Given the description of an element on the screen output the (x, y) to click on. 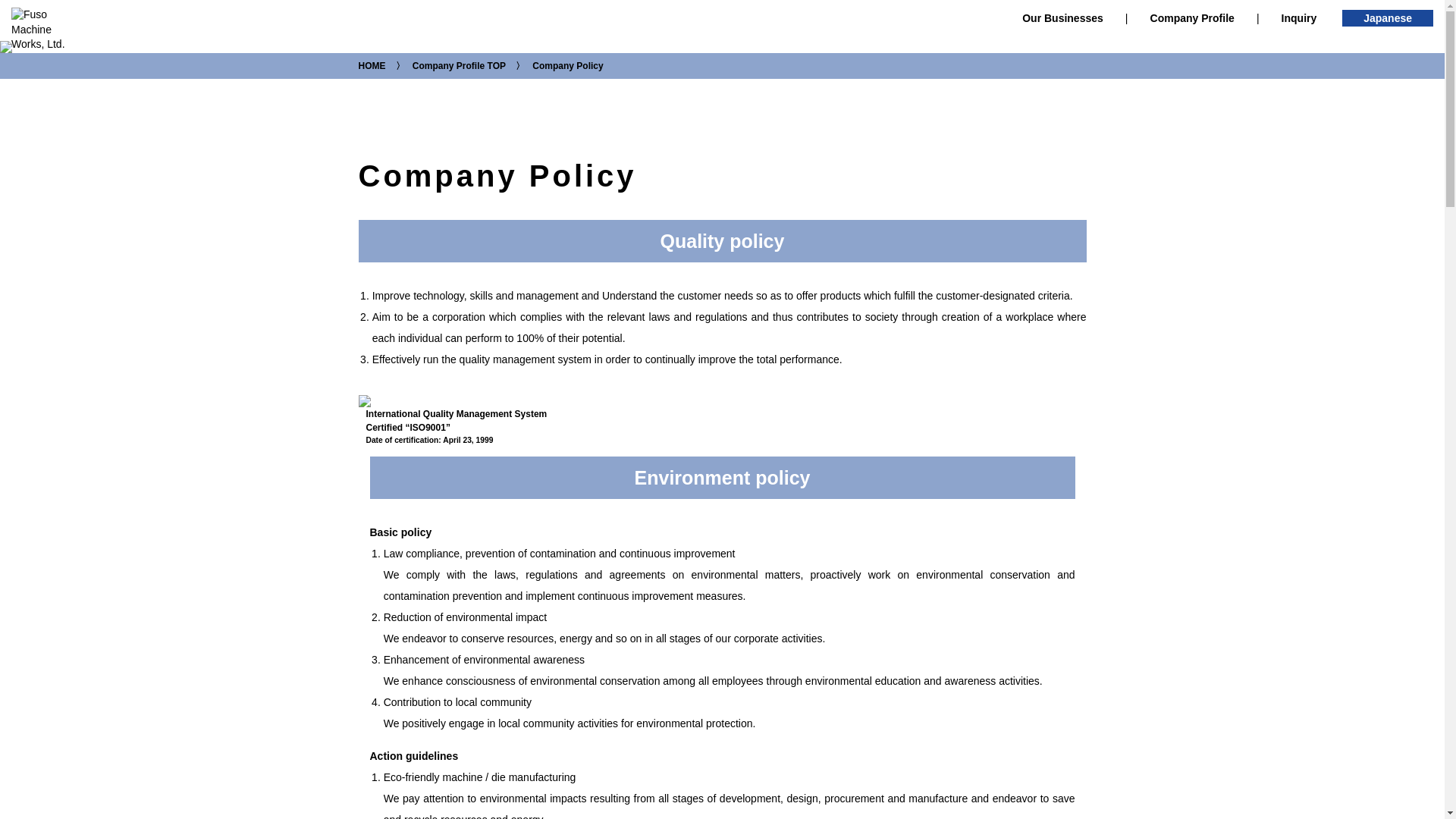
Inquiry (1299, 18)
Company Profile TOP (458, 65)
HOME (371, 65)
Japanese (1387, 17)
Company Profile (1192, 18)
